Given the description of an element on the screen output the (x, y) to click on. 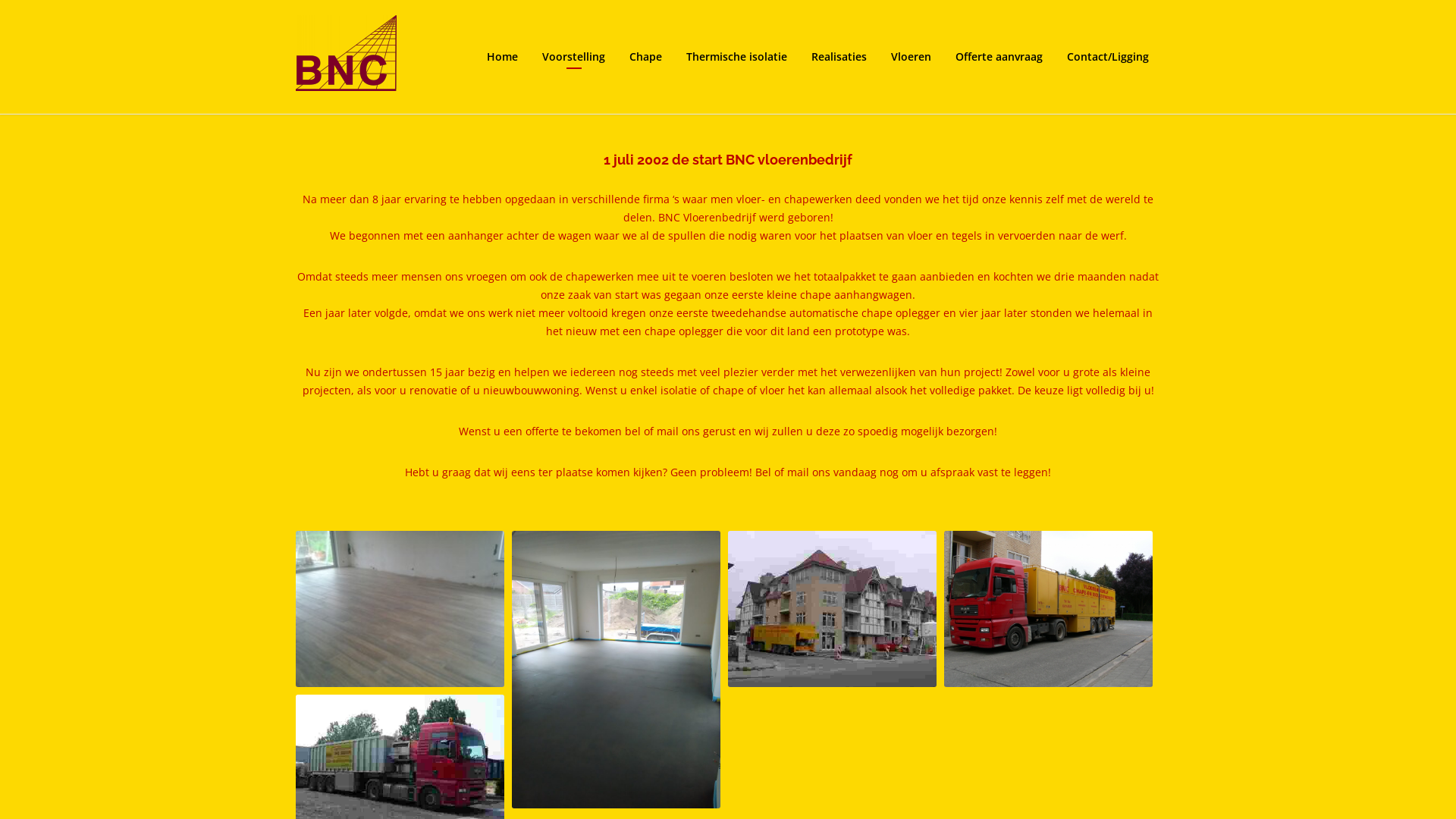
Chape Element type: hover (615, 669)
Vloeren Element type: text (910, 56)
Chape Element type: text (645, 56)
Plaatsen van vloertegels Element type: hover (399, 608)
Contact/Ligging Element type: text (1107, 56)
Realisaties Element type: text (839, 56)
Thermische isolatie Element type: text (736, 56)
Project Element type: hover (832, 608)
Home Element type: text (502, 56)
Voorstelling Element type: text (573, 56)
Onze eerste nieuwe chape oplegger Element type: hover (1048, 608)
Offerte aanvraag Element type: text (999, 56)
